Given the description of an element on the screen output the (x, y) to click on. 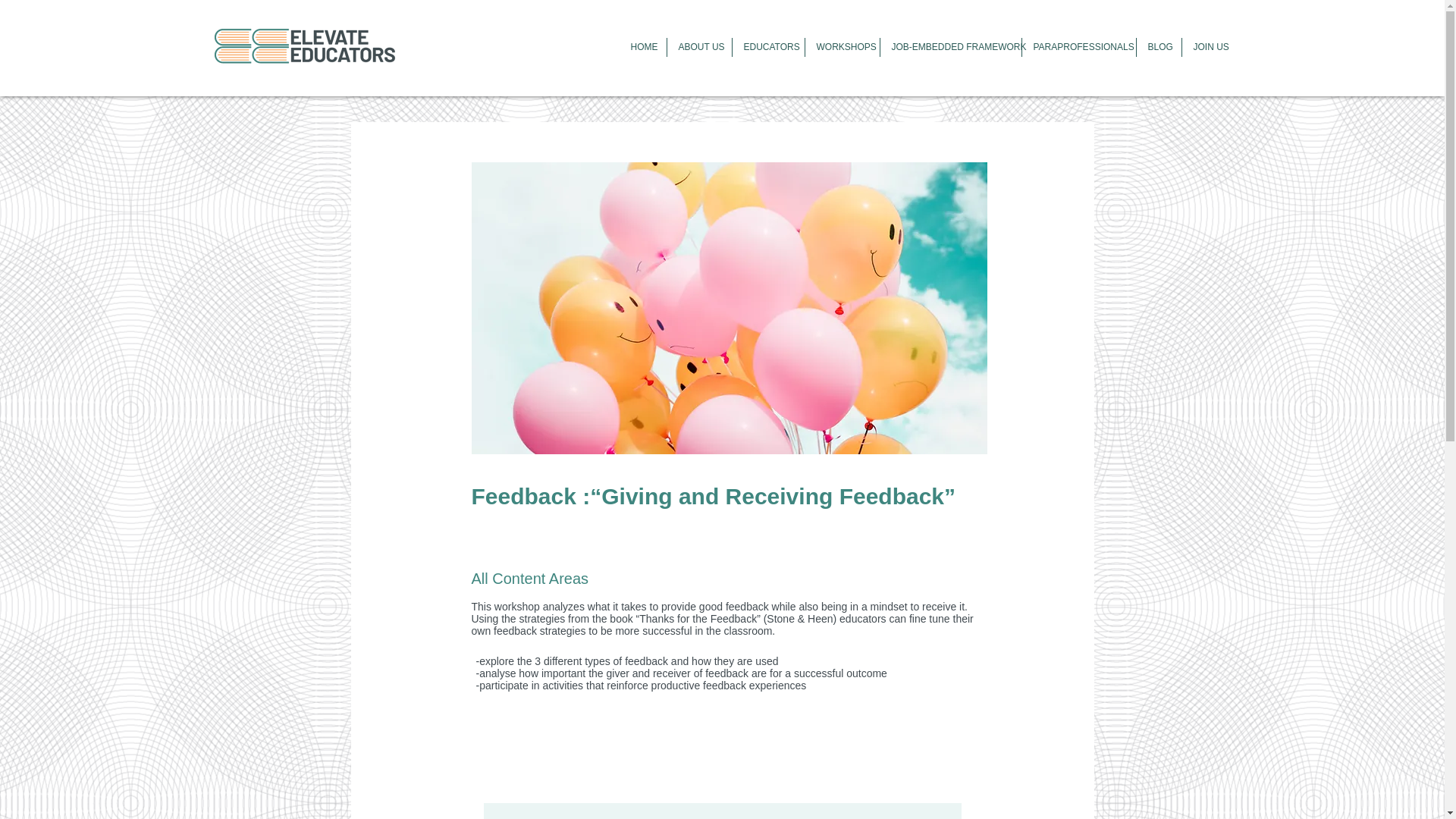
BLOG (1157, 46)
elevae educators logo (306, 47)
EDUCATORS (766, 46)
HOME (641, 46)
JOIN US (1208, 46)
JOB-EMBEDDED FRAMEWORK (950, 46)
ABOUT US (697, 46)
WORKSHOPS (841, 46)
